Given the description of an element on the screen output the (x, y) to click on. 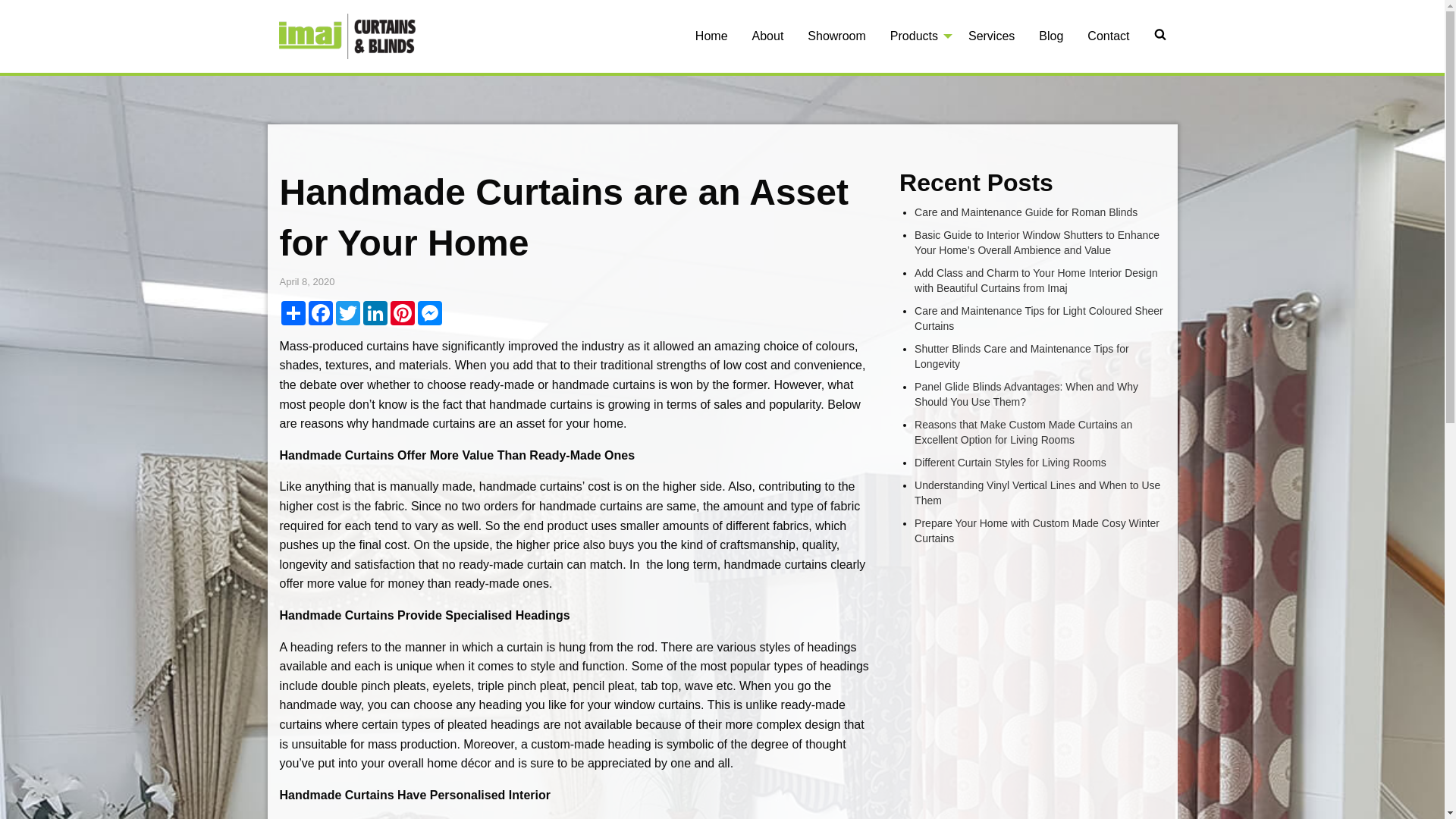
Understanding Vinyl Vertical Lines and When to Use Them Element type: text (1037, 492)
Contact Element type: text (1108, 36)
About Element type: text (768, 36)
Twitter Element type: text (346, 313)
Home Element type: text (711, 36)
Share Element type: text (292, 313)
Shutter Blinds Care and Maintenance Tips for Longevity Element type: text (1021, 356)
Pinterest Element type: text (401, 313)
Showroom Element type: text (836, 36)
Services Element type: text (991, 36)
Facebook Element type: text (319, 313)
Different Curtain Styles for Living Rooms Element type: text (1010, 462)
Blog Element type: text (1050, 36)
Care and Maintenance Tips for Light Coloured Sheer Curtains Element type: text (1038, 318)
Care and Maintenance Guide for Roman Blinds Element type: text (1025, 212)
Prepare Your Home with Custom Made Cosy Winter Curtains Element type: text (1036, 530)
Products Element type: text (917, 36)
Messenger Element type: text (428, 313)
LinkedIn Element type: text (374, 313)
